Given the description of an element on the screen output the (x, y) to click on. 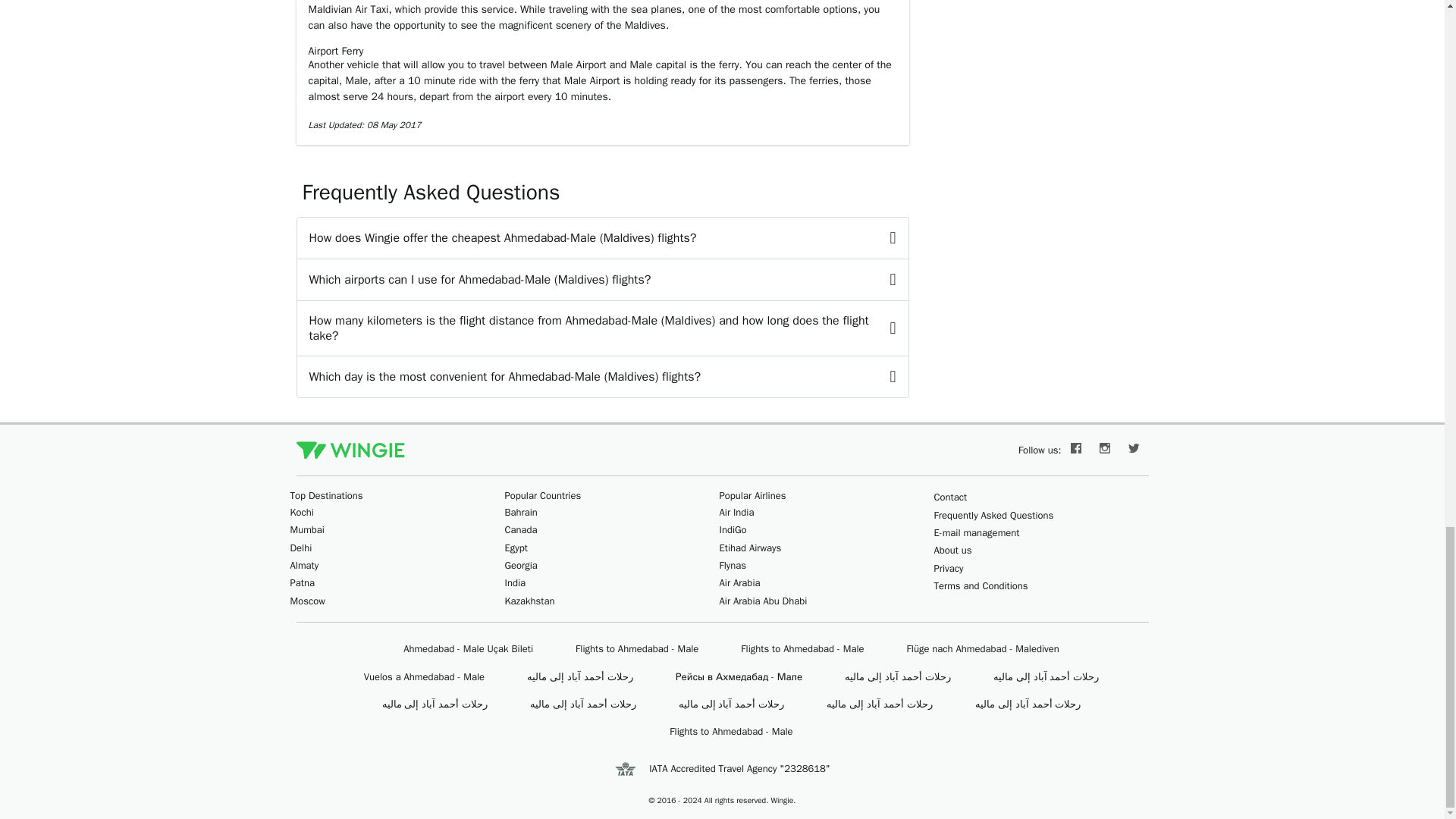
Egypt (516, 547)
Bahrain (521, 512)
India (515, 582)
Delhi (300, 547)
Canada (521, 529)
Air India (736, 512)
Moscow (306, 600)
Instagram (1104, 450)
Patna (301, 582)
Kochi (301, 512)
Top Destinations (325, 495)
Twitter (1133, 450)
Almaty (303, 564)
Popular Countries (542, 495)
Facebook (1075, 450)
